Given the description of an element on the screen output the (x, y) to click on. 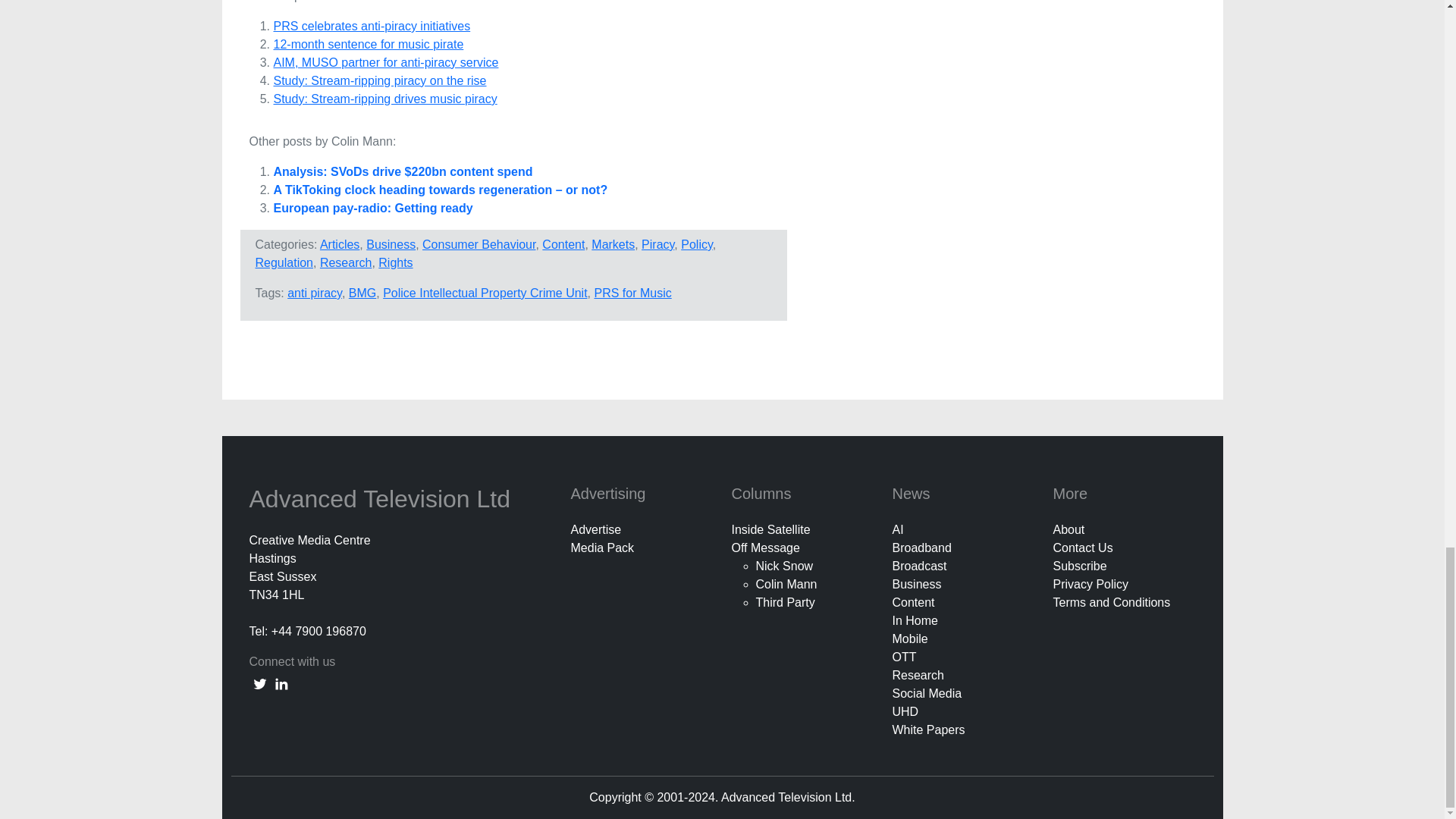
Regulation (283, 262)
Articles (339, 244)
PRS celebrates anti-piracy initiatives (371, 25)
PRS celebrates anti-piracy initiatives (371, 25)
Study: Stream-ripping piracy on the rise (379, 80)
Business (390, 244)
Study: Stream-ripping drives music piracy (384, 98)
12-month sentence for music pirate (368, 43)
PRS for Music (632, 292)
Research (345, 262)
